Given the description of an element on the screen output the (x, y) to click on. 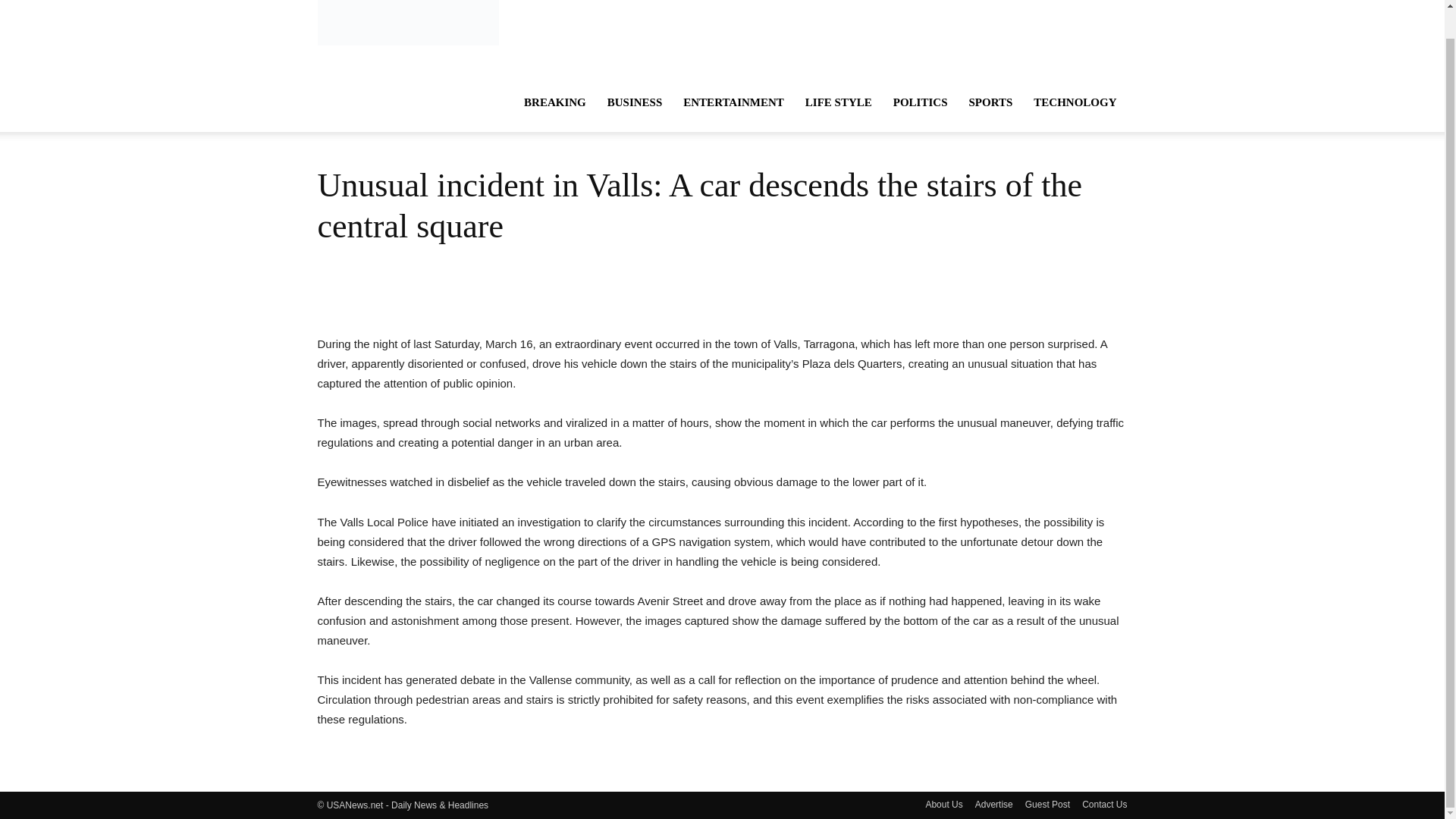
BREAKING (554, 101)
Contact Us (1103, 804)
SPORTS (990, 101)
BUSINESS (634, 101)
LIFE STYLE (838, 101)
ENTERTAINMENT (733, 101)
Guest Post (1047, 804)
POLITICS (920, 101)
Advertise (994, 804)
Daily News and Headlines from US (407, 24)
About Us (943, 804)
TECHNOLOGY (1074, 101)
Headlines from America (407, 10)
